Given the description of an element on the screen output the (x, y) to click on. 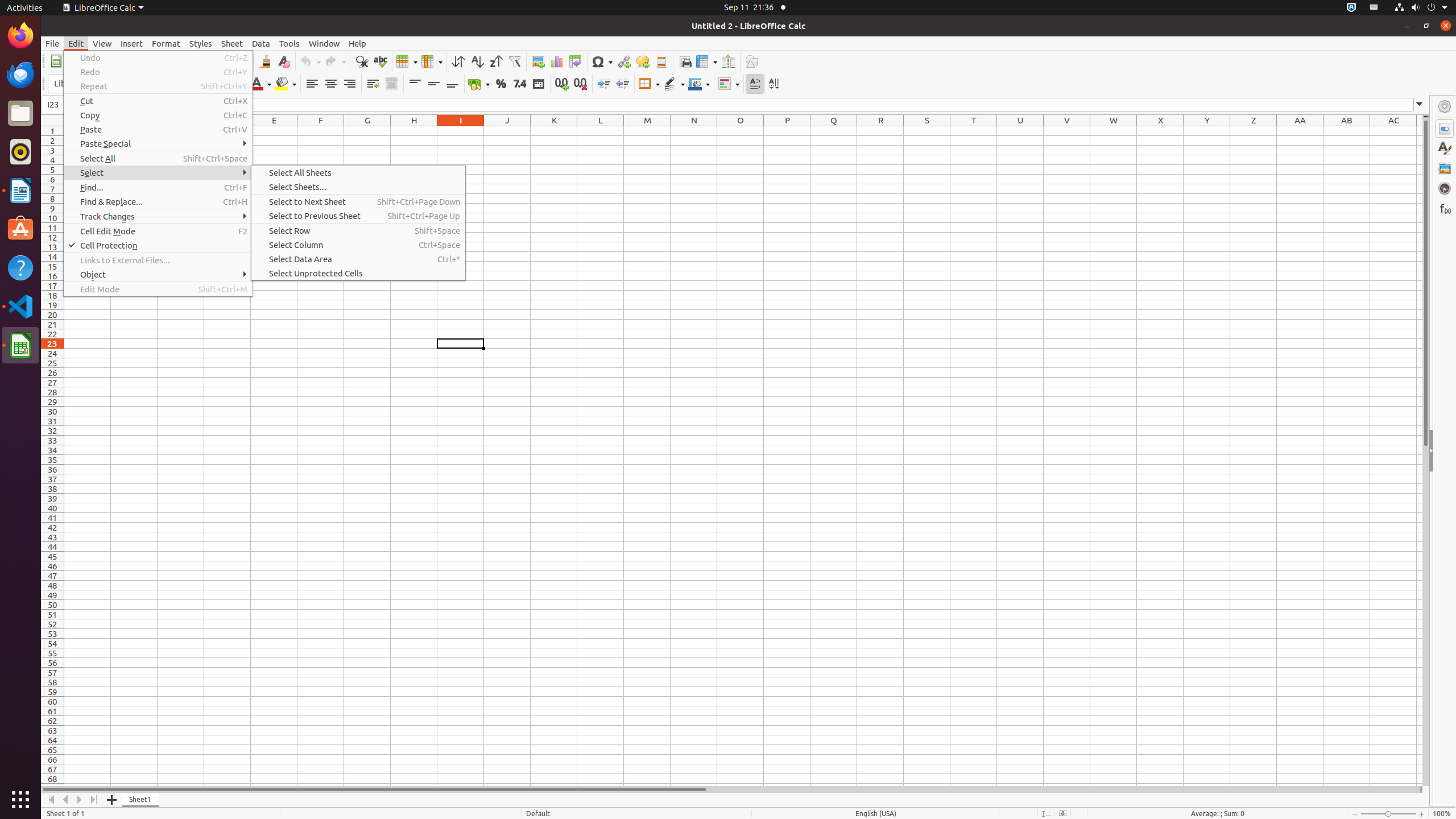
Align Top Element type: push-button (414, 83)
Edit Mode Element type: menu-item (157, 289)
S1 Element type: table-cell (926, 130)
LibreOffice Calc Element type: push-button (20, 344)
Gallery Element type: radio-button (1444, 168)
